Given the description of an element on the screen output the (x, y) to click on. 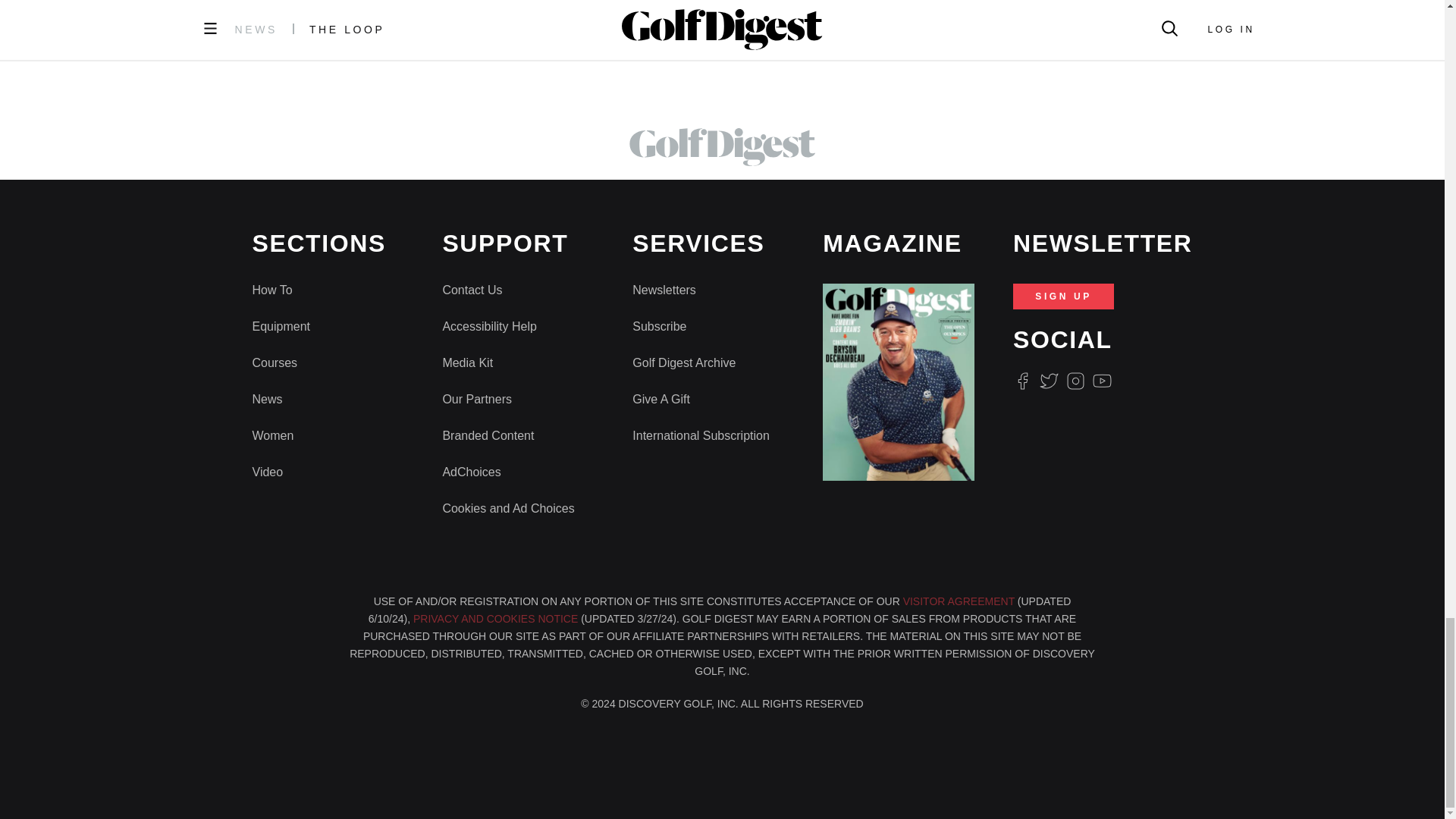
Instagram Logo (1074, 380)
Twitter Logo (1048, 380)
Youtube Icon (1102, 380)
Facebook Logo (1022, 380)
